Given the description of an element on the screen output the (x, y) to click on. 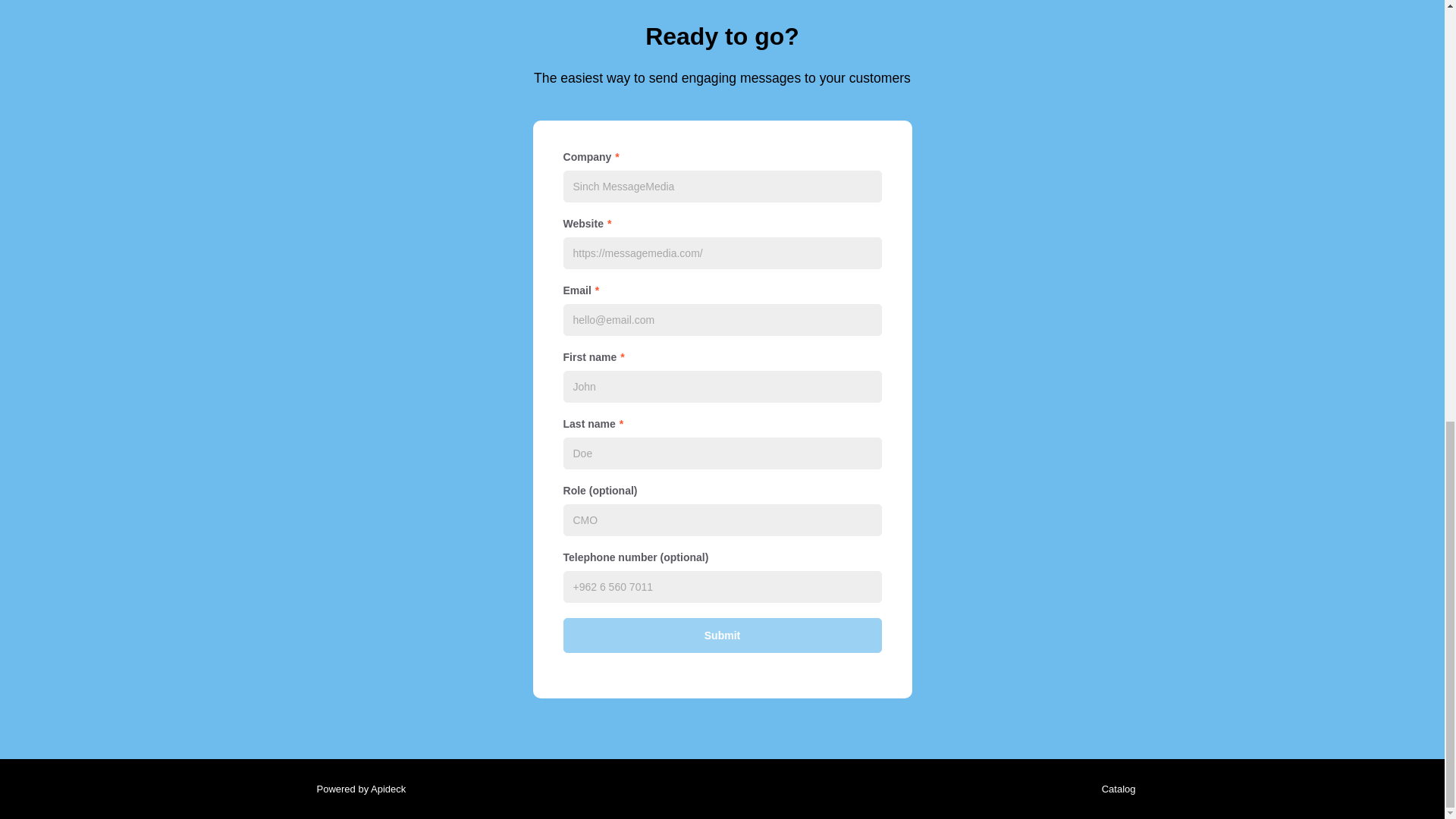
Catalog (1115, 789)
Powered by Apideck (356, 789)
Submit (721, 635)
